Given the description of an element on the screen output the (x, y) to click on. 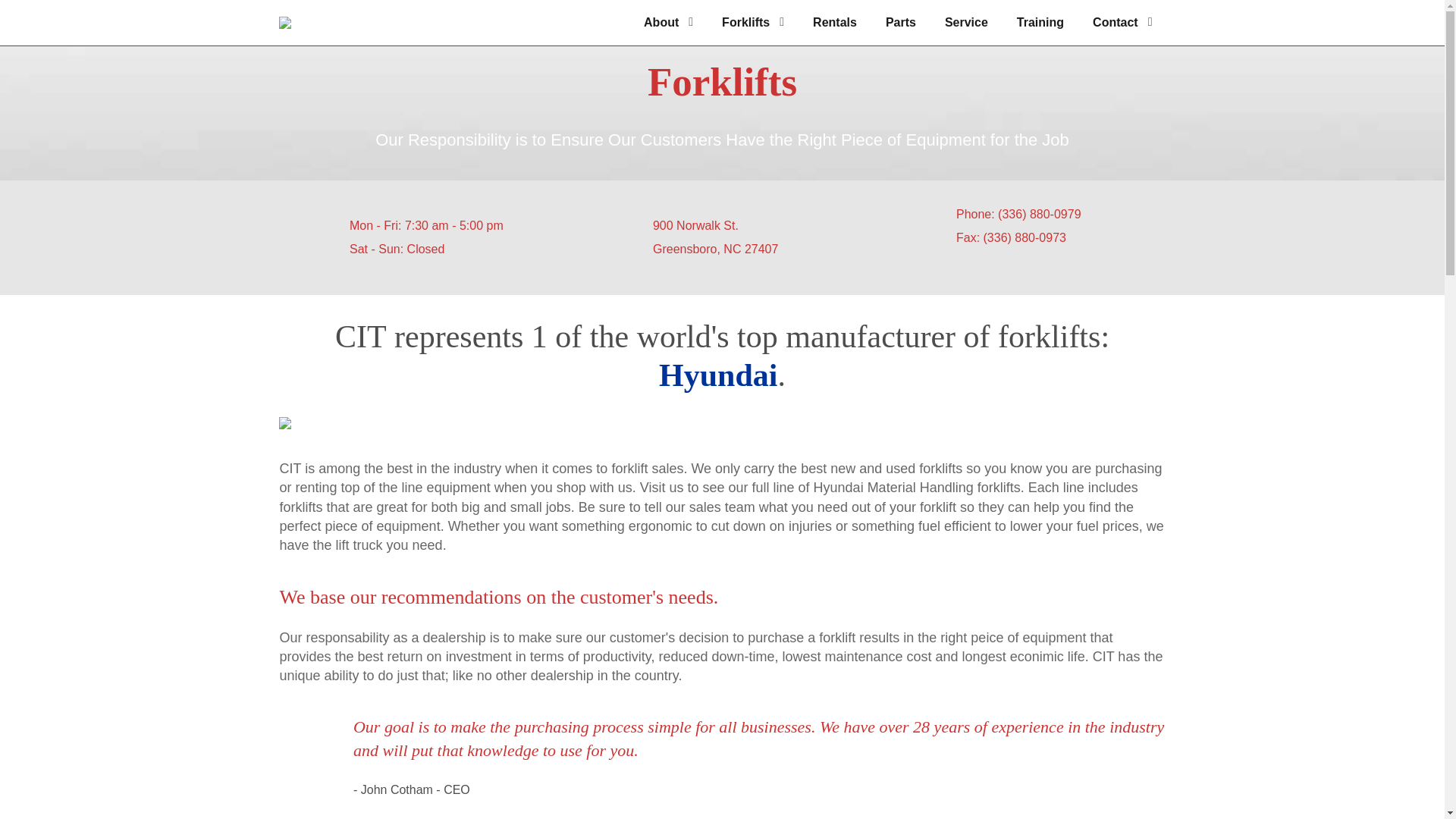
Hyundai Forklift (285, 422)
About (668, 22)
Forklifts (752, 22)
Contact (1122, 22)
Training (1040, 22)
Rentals (834, 22)
CIT Logo (285, 22)
Parts (901, 22)
Service (966, 22)
